Given the description of an element on the screen output the (x, y) to click on. 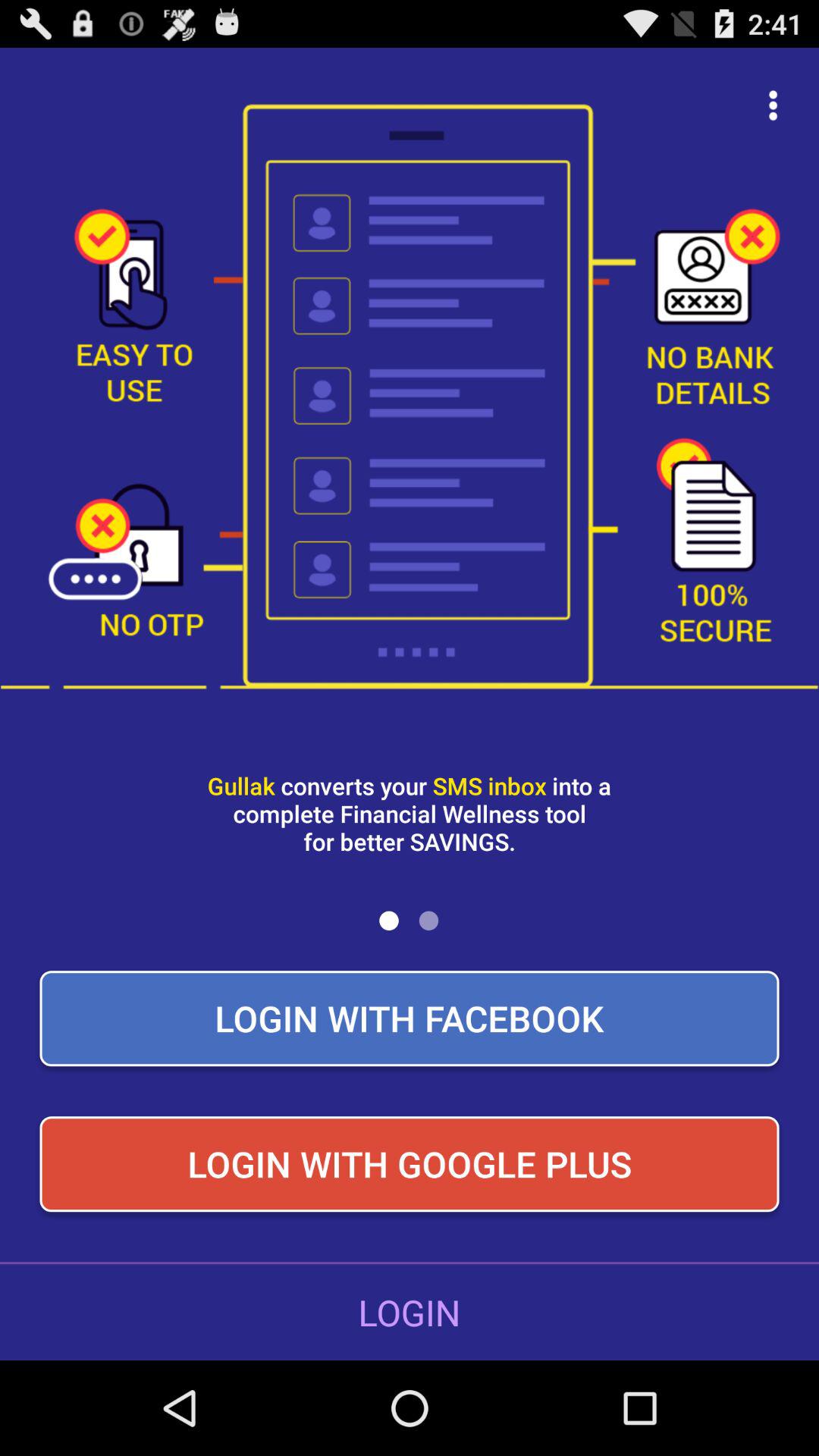
choose item at the top right corner (773, 105)
